Given the description of an element on the screen output the (x, y) to click on. 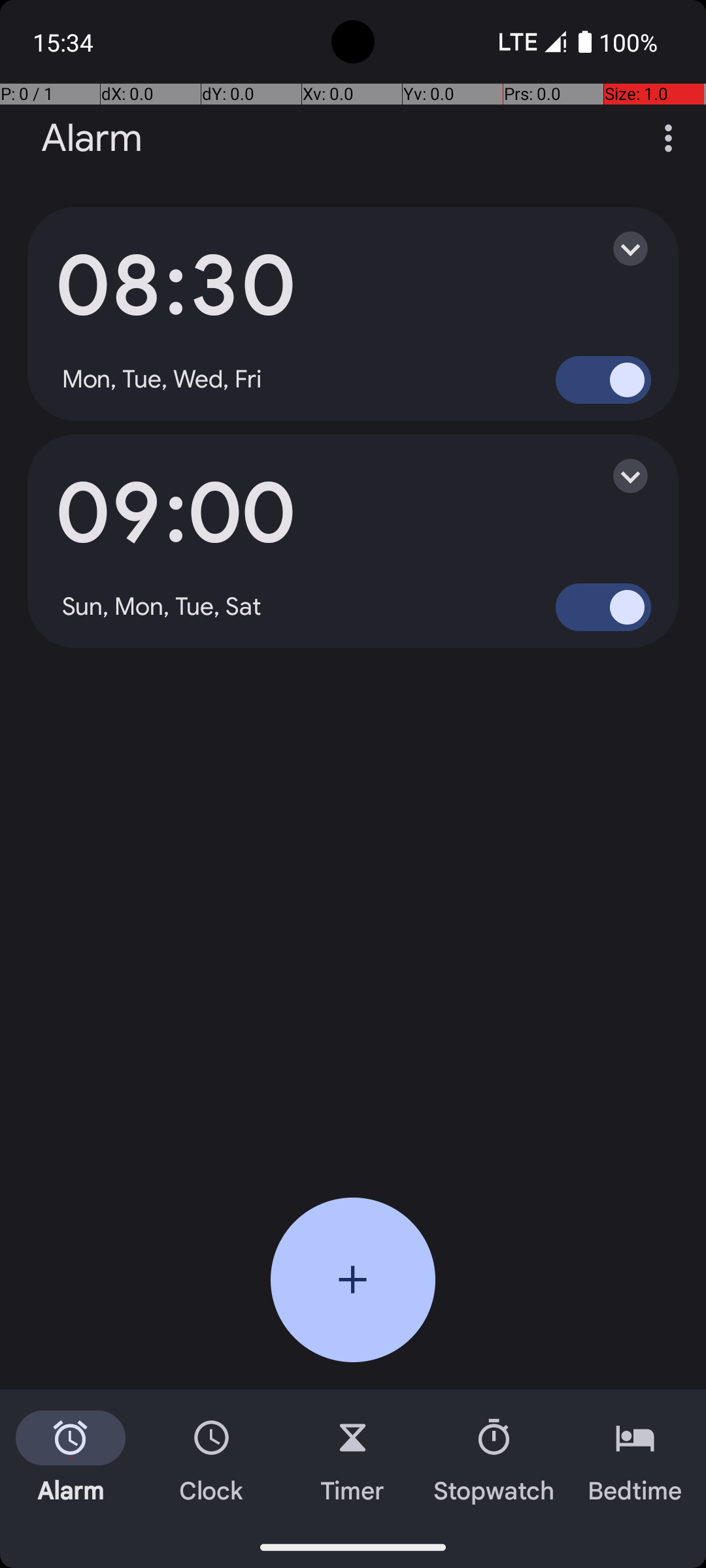
Mon, Tue, Wed, Fri Element type: android.widget.TextView (161, 379)
Sun, Mon, Tue, Sat Element type: android.widget.TextView (161, 606)
